Given the description of an element on the screen output the (x, y) to click on. 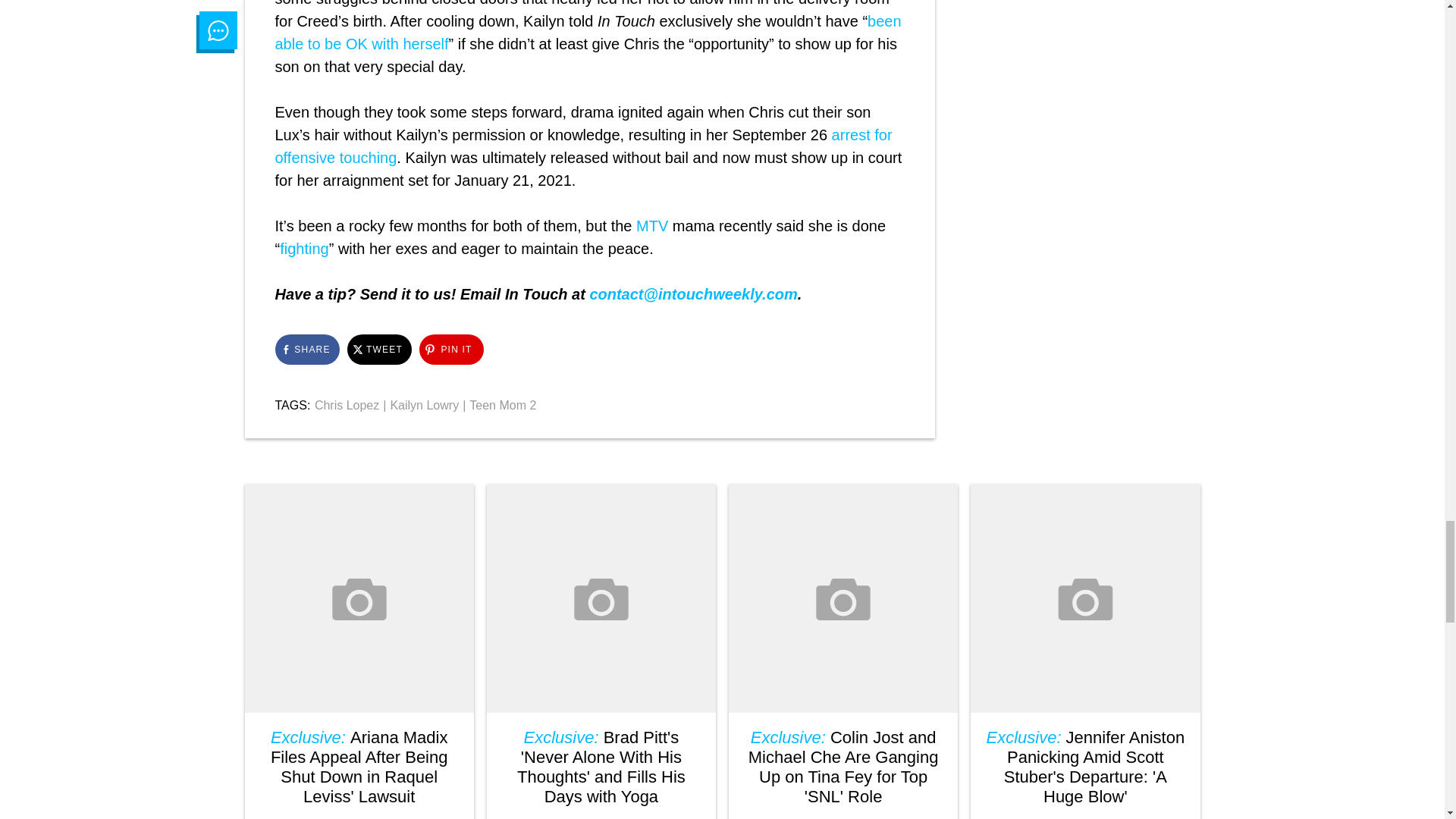
Click to share on Pinterest (451, 349)
Click to share on Twitter (379, 349)
Click to share on Facebook (307, 349)
